Given the description of an element on the screen output the (x, y) to click on. 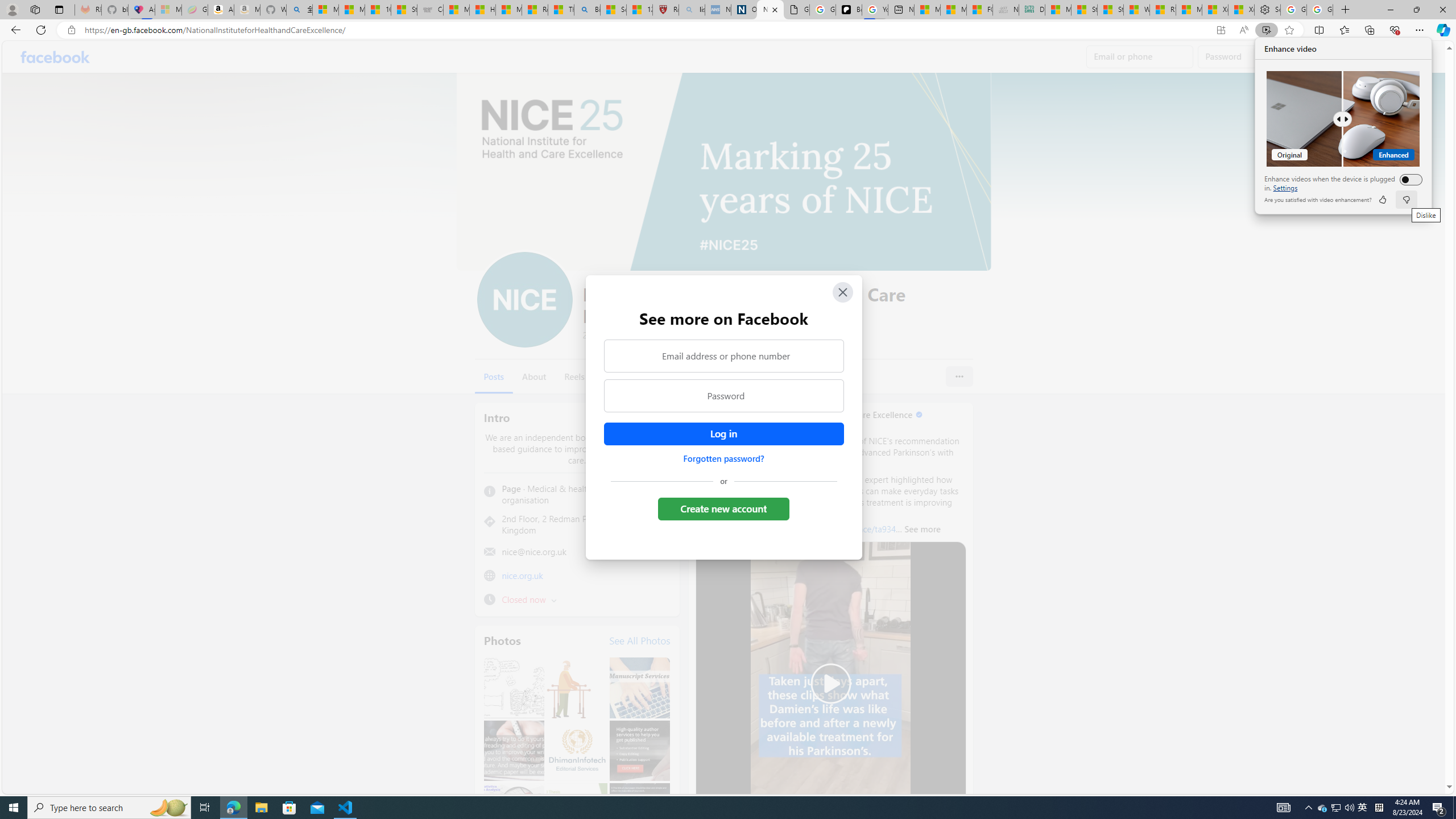
Accessible login button (723, 433)
Facebook (1362, 807)
Running applications (55, 56)
Forgotten password? (700, 807)
